Given the description of an element on the screen output the (x, y) to click on. 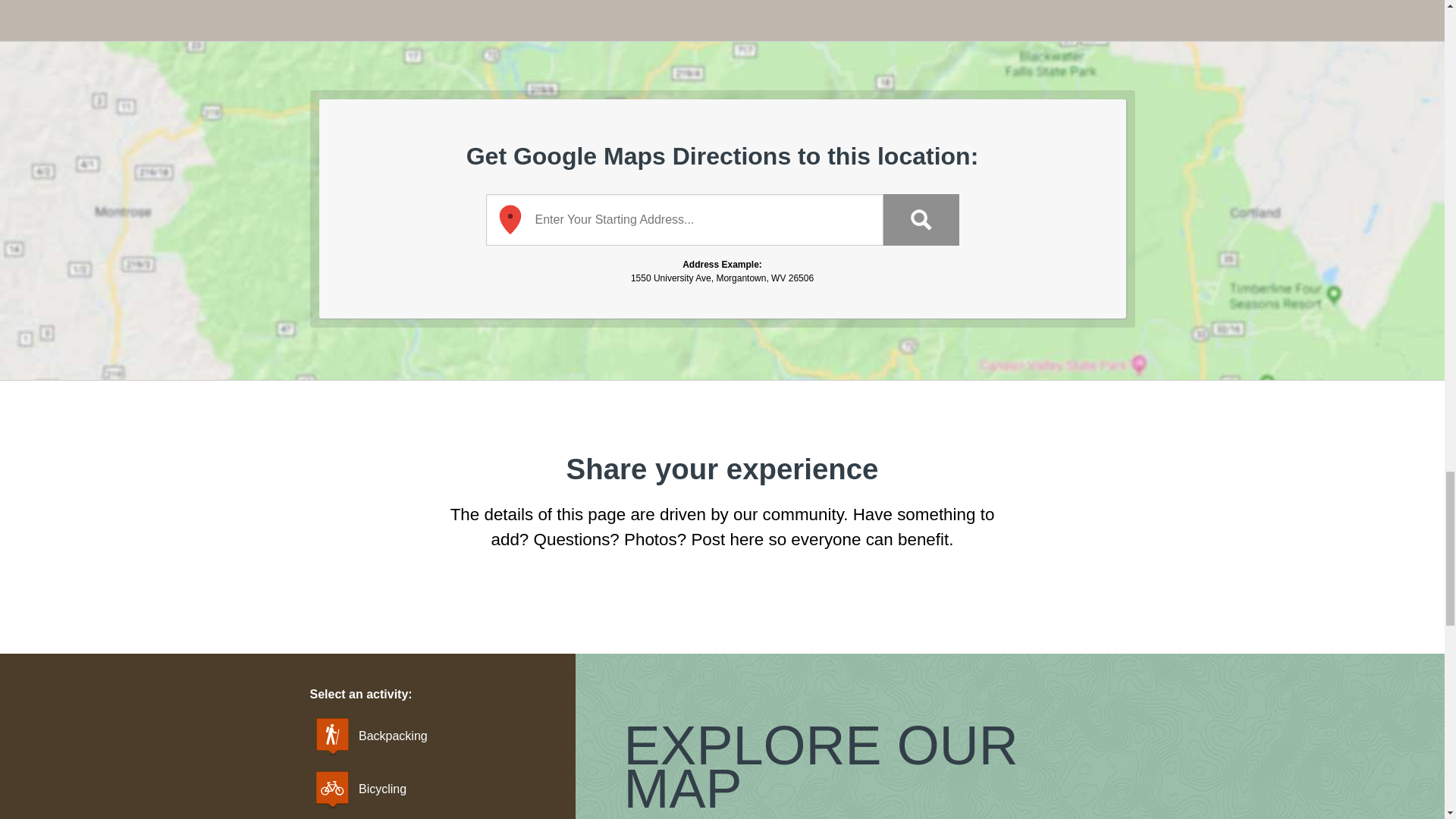
Get Directions (920, 219)
Get Directions (920, 219)
